Given the description of an element on the screen output the (x, y) to click on. 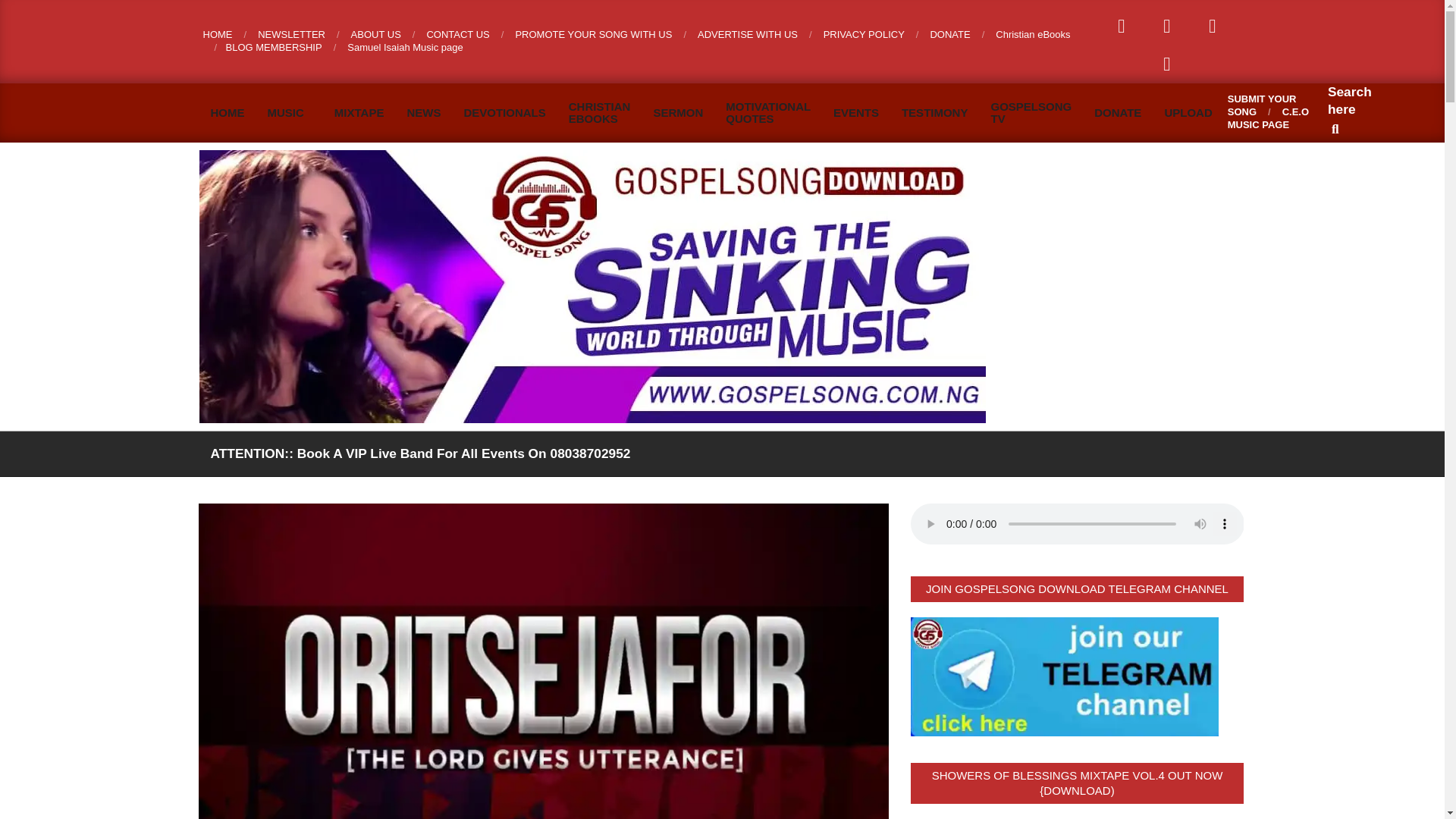
Samuel Isaiah Music page (405, 47)
GOSPELSONG TV (1030, 112)
PRIVACY POLICY (864, 34)
BLOG MEMBERSHIP (273, 47)
CHRISTIAN EBOOKS (599, 112)
DONATE (949, 34)
DONATE (1118, 112)
HOME (217, 34)
C.E.O MUSIC PAGE (1267, 118)
EVENTS (855, 112)
